Given the description of an element on the screen output the (x, y) to click on. 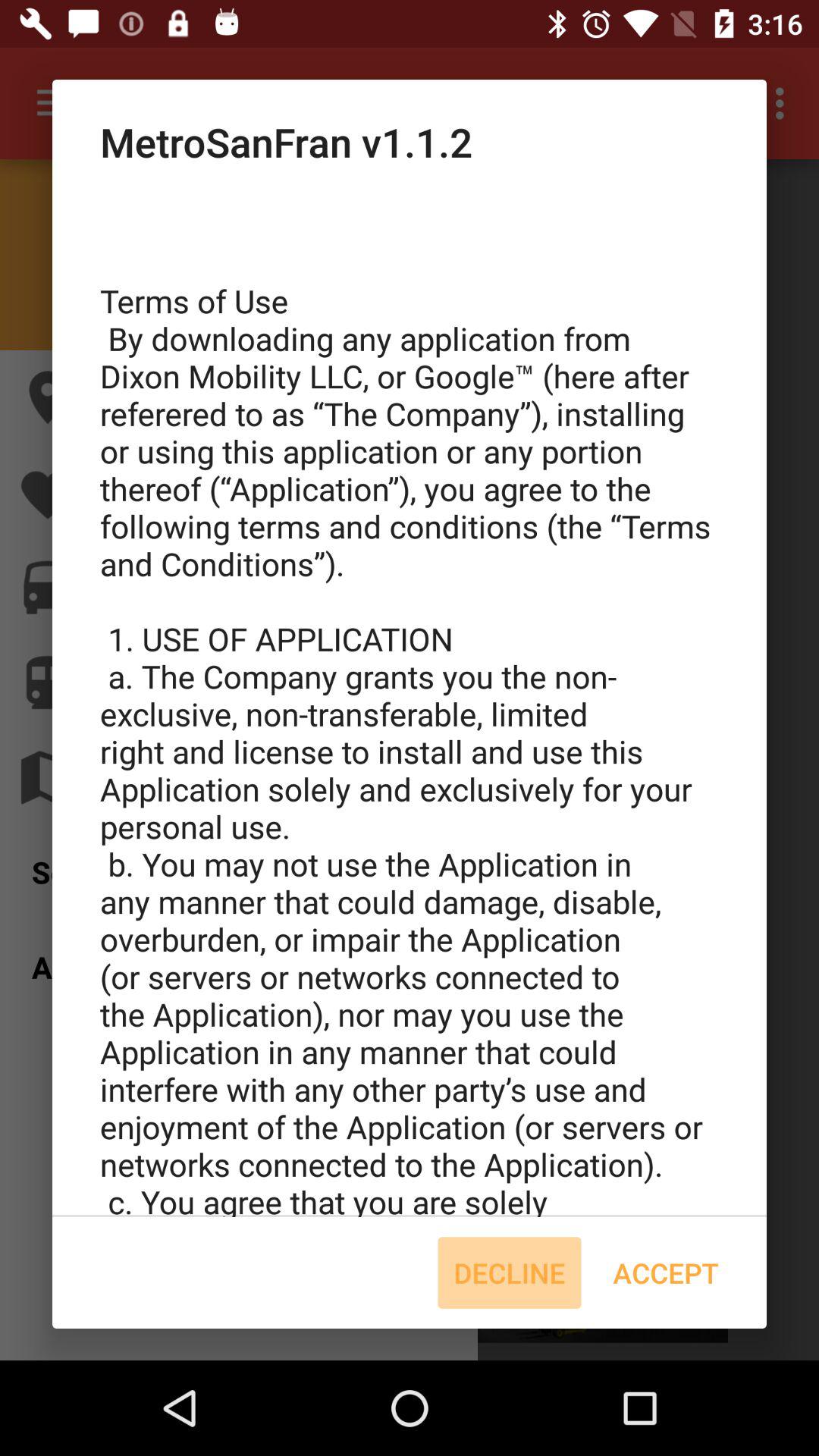
click the icon at the bottom (509, 1272)
